Given the description of an element on the screen output the (x, y) to click on. 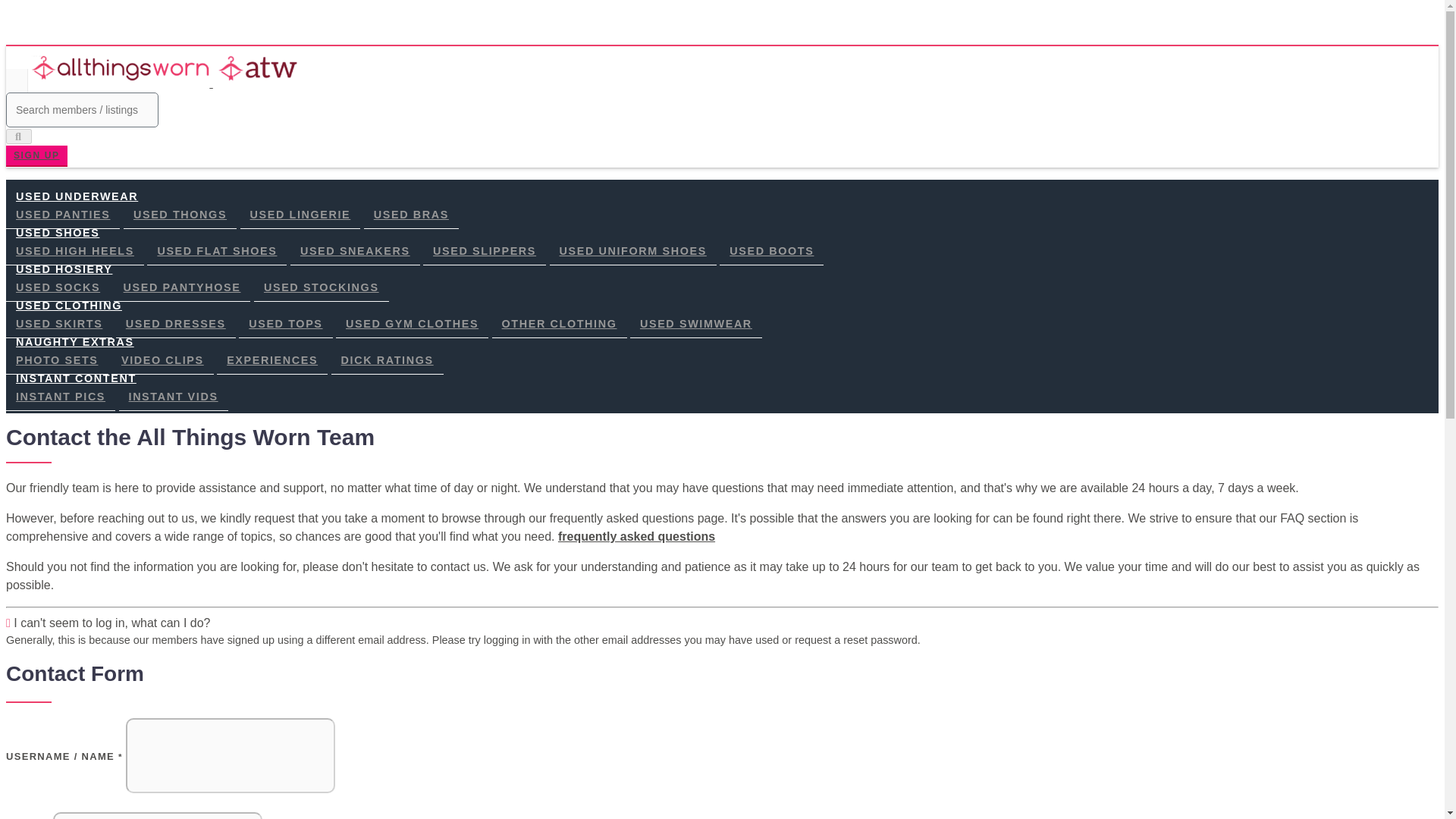
INSTANT CONTENT (76, 378)
VIDEO CLIPS (163, 360)
frequently asked questions (635, 535)
INSTANT VIDS (173, 397)
OTHER CLOTHING (559, 324)
USED SNEAKERS (354, 251)
USED THONGS (179, 214)
USED CLOTHING (68, 305)
SIGN UP (35, 156)
USED BOOTS (771, 251)
USED SWIMWEAR (695, 324)
USED FLAT SHOES (216, 251)
USED LINGERIE (300, 214)
INSTANT PICS (60, 397)
USED SLIPPERS (484, 251)
